Given the description of an element on the screen output the (x, y) to click on. 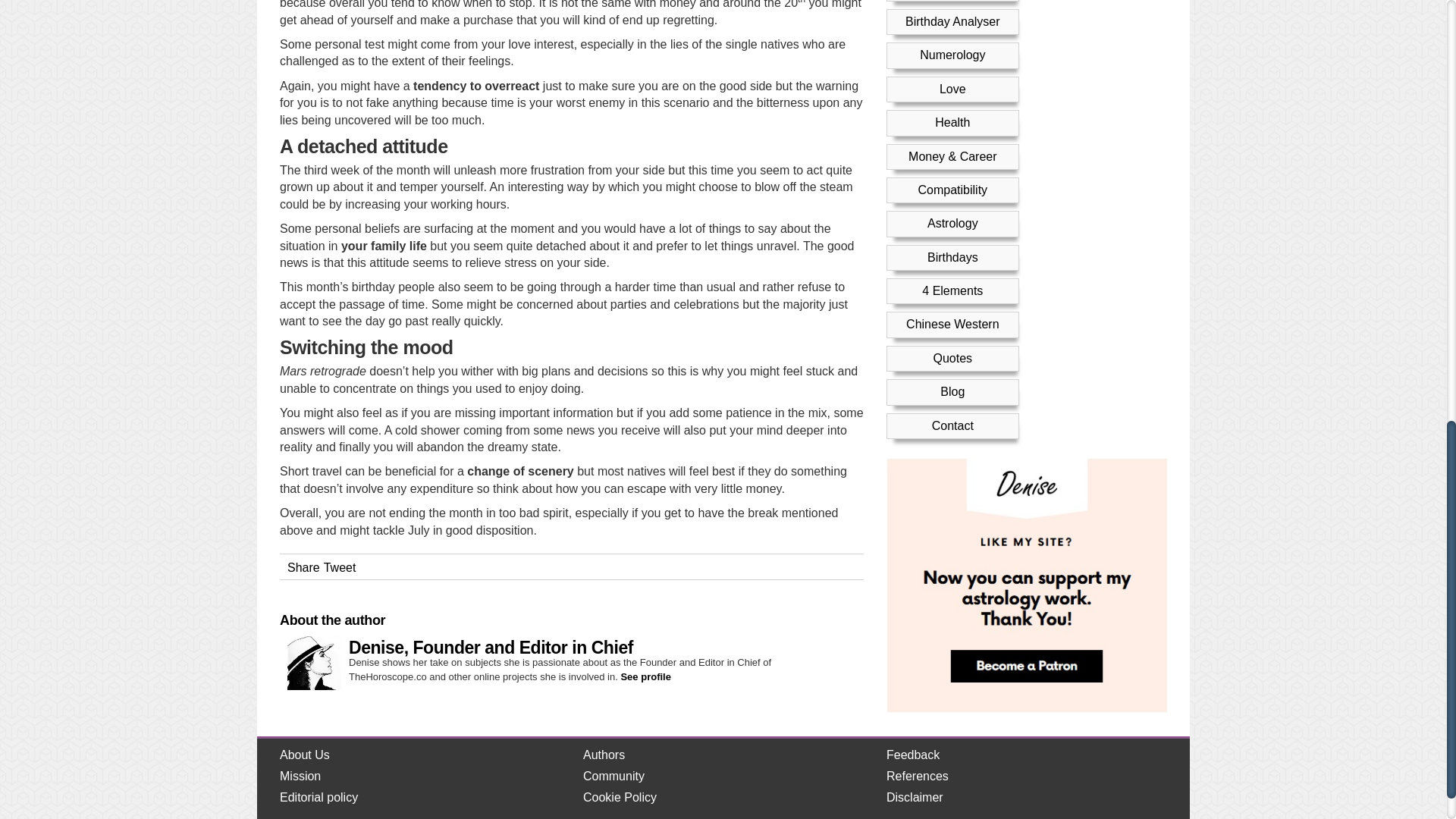
Chinese Western (952, 81)
Blog (952, 148)
Birthdays (952, 14)
4 Elements (952, 47)
Quotes (952, 115)
